Given the description of an element on the screen output the (x, y) to click on. 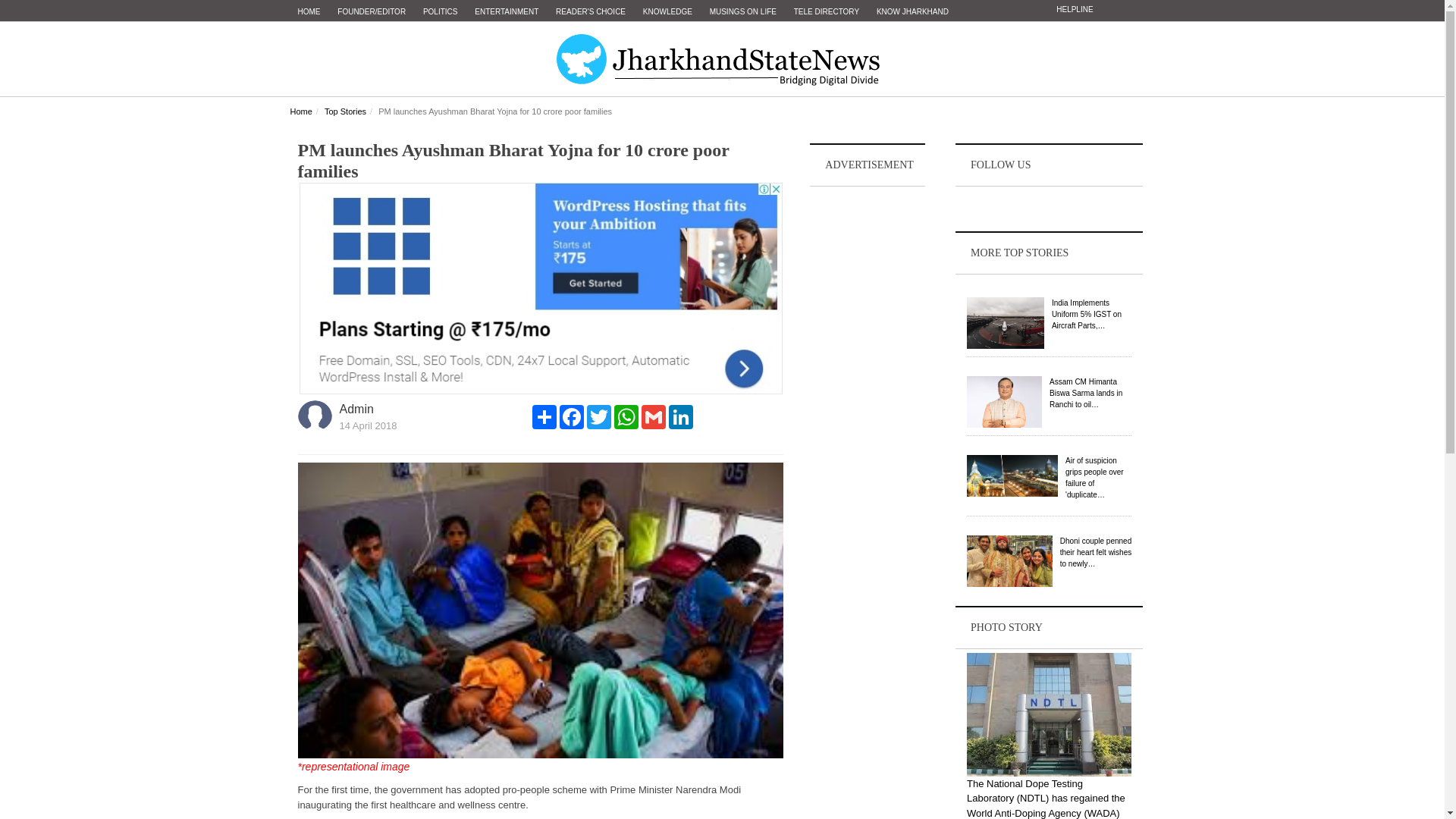
HELPLINE (1074, 9)
Top Stories (345, 111)
Home (300, 111)
KNOWLEDGE (667, 11)
Twitter (598, 416)
READER'S CHOICE (590, 11)
MUSINGS ON LIFE (742, 11)
TELE DIRECTORY (826, 11)
Facebook (571, 416)
LinkedIn (680, 416)
KNOW JHARKHAND (912, 11)
Advertisement (867, 416)
HOME (308, 11)
POLITICS (439, 11)
Gmail (653, 416)
